Given the description of an element on the screen output the (x, y) to click on. 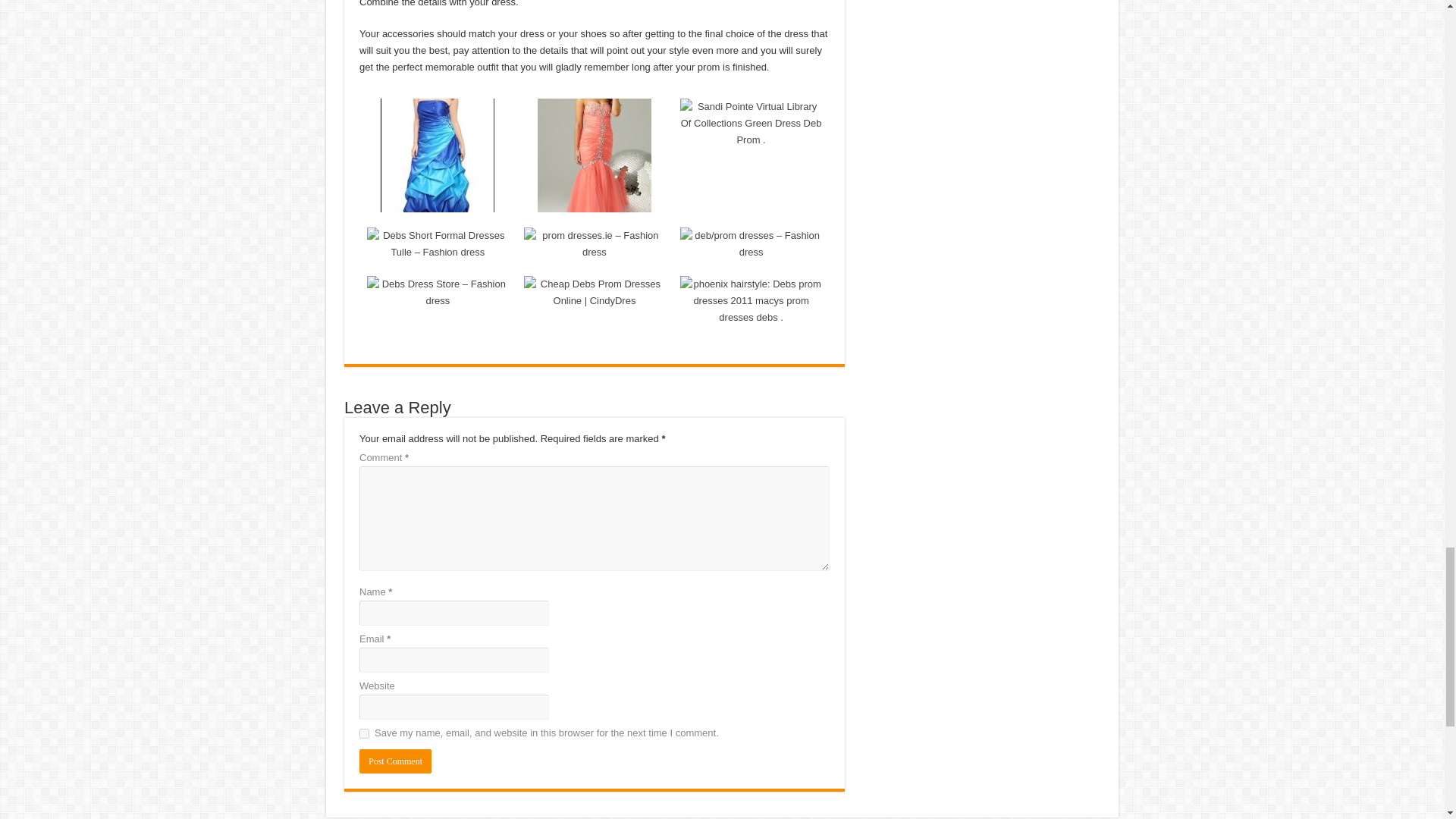
yes (364, 733)
Post Comment (394, 761)
